Given the description of an element on the screen output the (x, y) to click on. 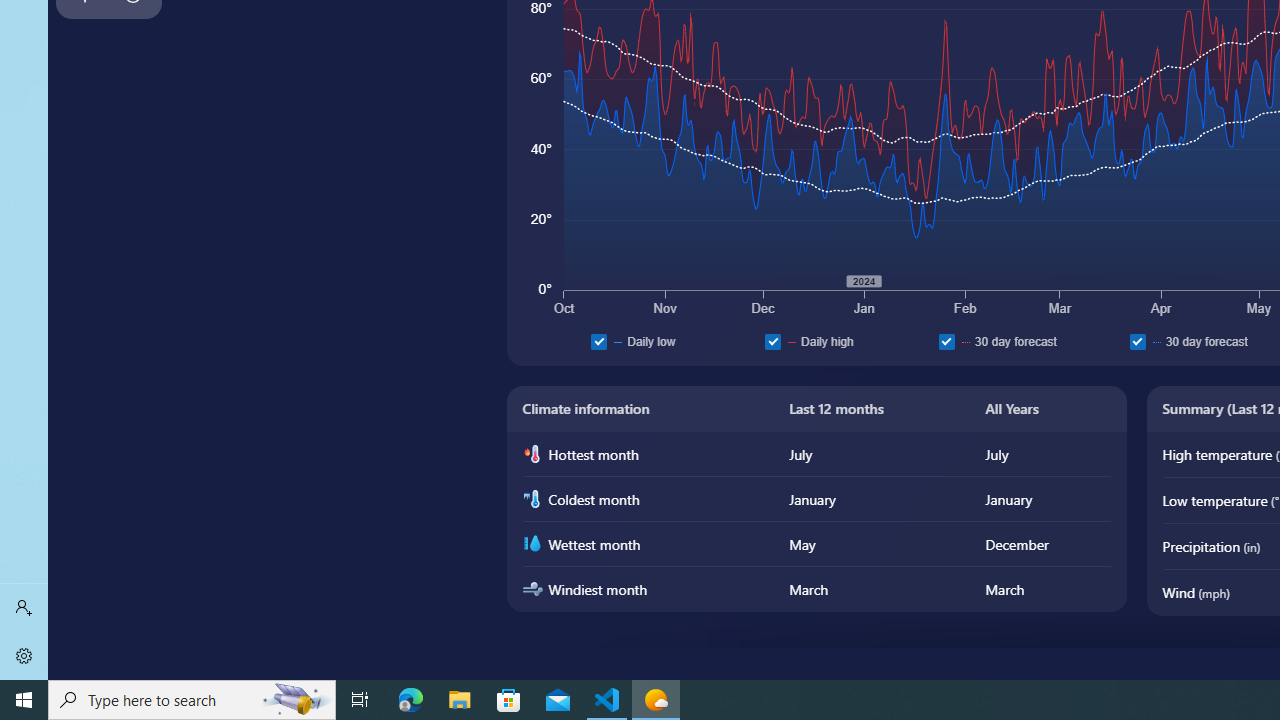
Visual Studio Code - 1 running window (607, 699)
File Explorer (460, 699)
Start (24, 699)
Microsoft Store (509, 699)
Type here to search (191, 699)
Task View (359, 699)
Settings (24, 655)
Microsoft Edge (411, 699)
Weather - 1 running window (656, 699)
Search highlights icon opens search home window (295, 699)
Sign in (24, 607)
